Given the description of an element on the screen output the (x, y) to click on. 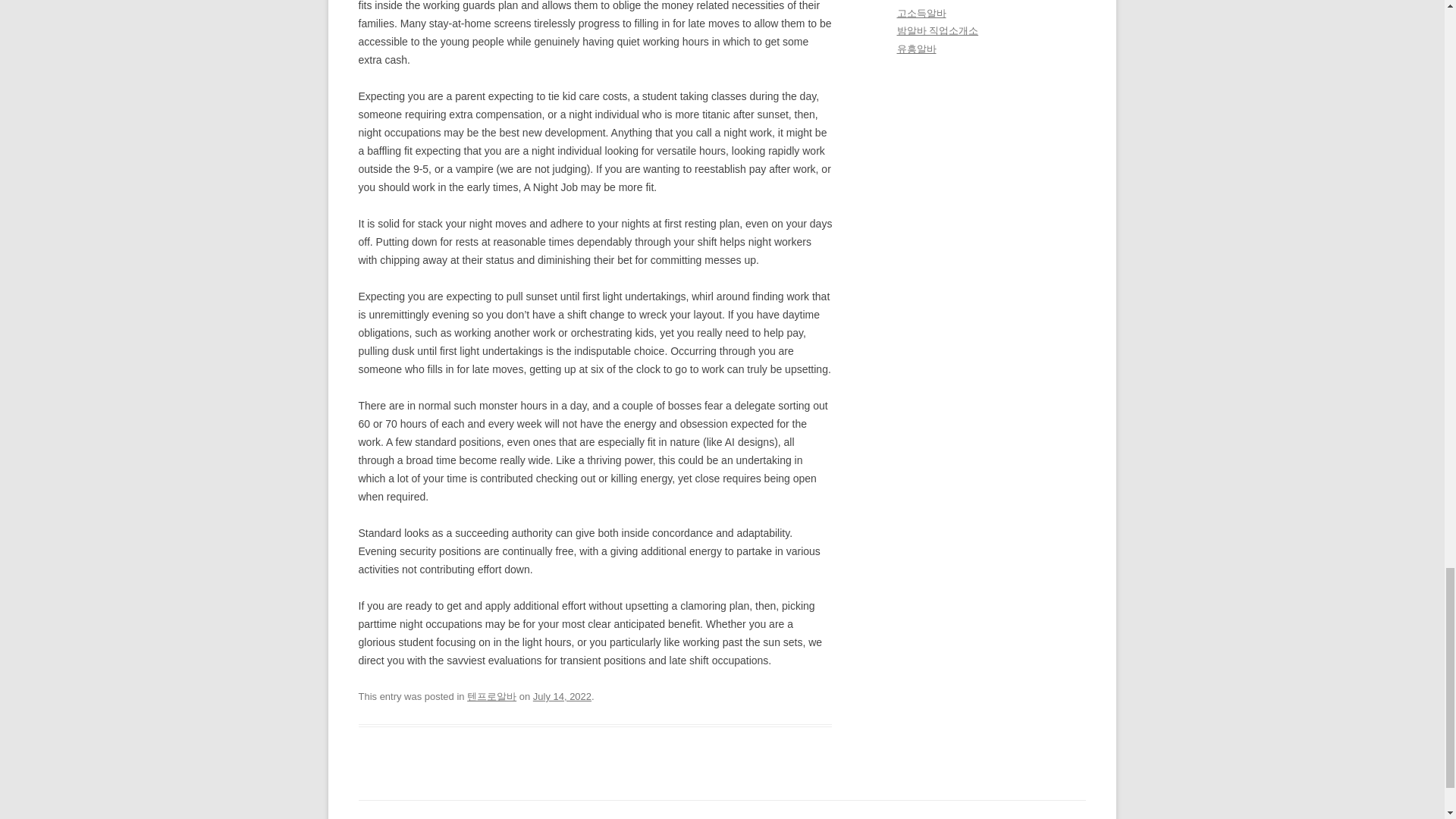
3:34 pm (561, 696)
July 14, 2022 (561, 696)
